Given the description of an element on the screen output the (x, y) to click on. 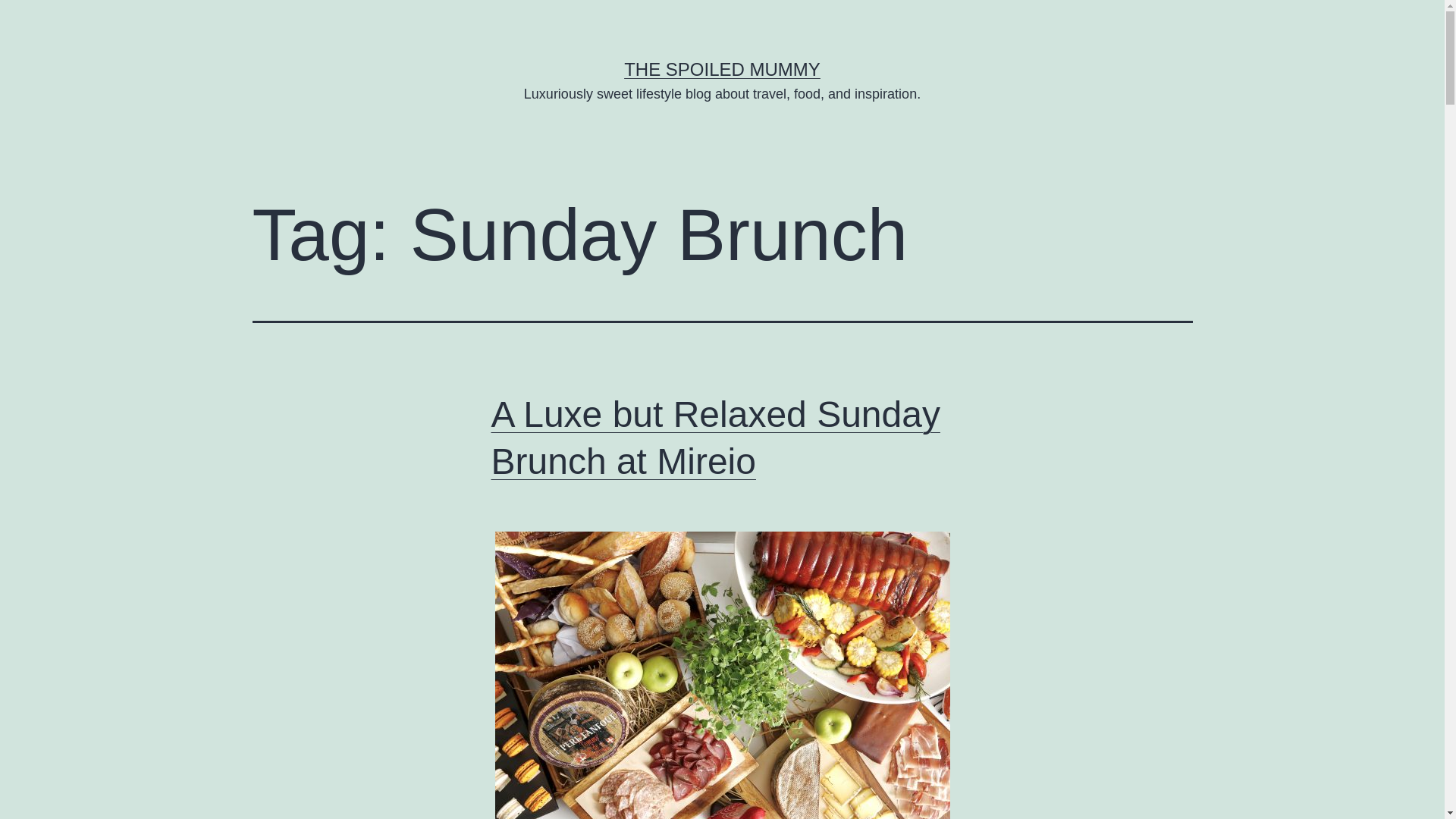
A Luxe but Relaxed Sunday Brunch at Mireio (716, 437)
THE SPOILED MUMMY (722, 68)
